Given the description of an element on the screen output the (x, y) to click on. 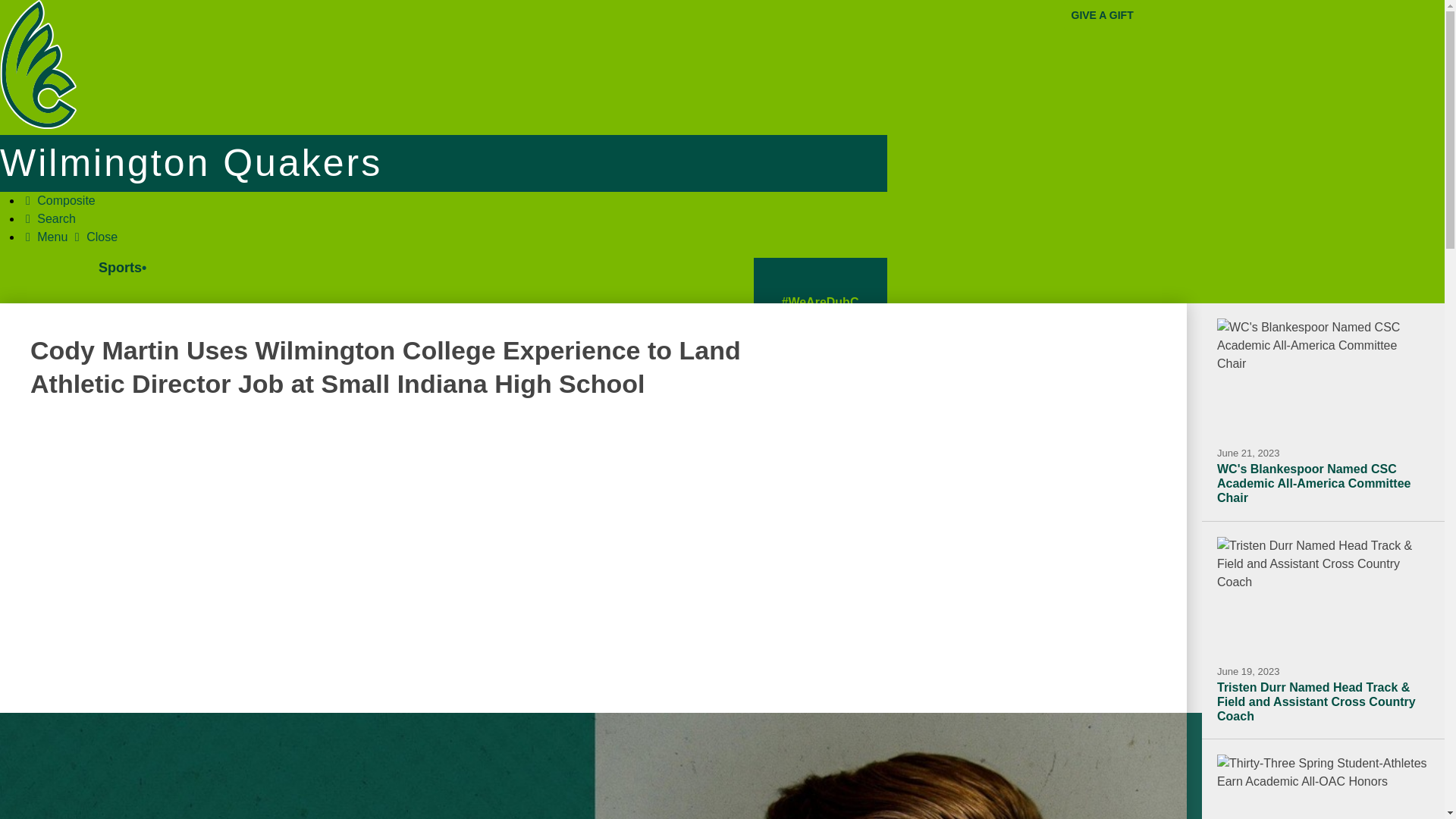
instagram (815, 567)
Composite (58, 200)
Menu Close (69, 236)
Search (48, 218)
Search (822, 649)
twitter (804, 479)
Facebook-fill (822, 390)
Sports (127, 267)
